Given the description of an element on the screen output the (x, y) to click on. 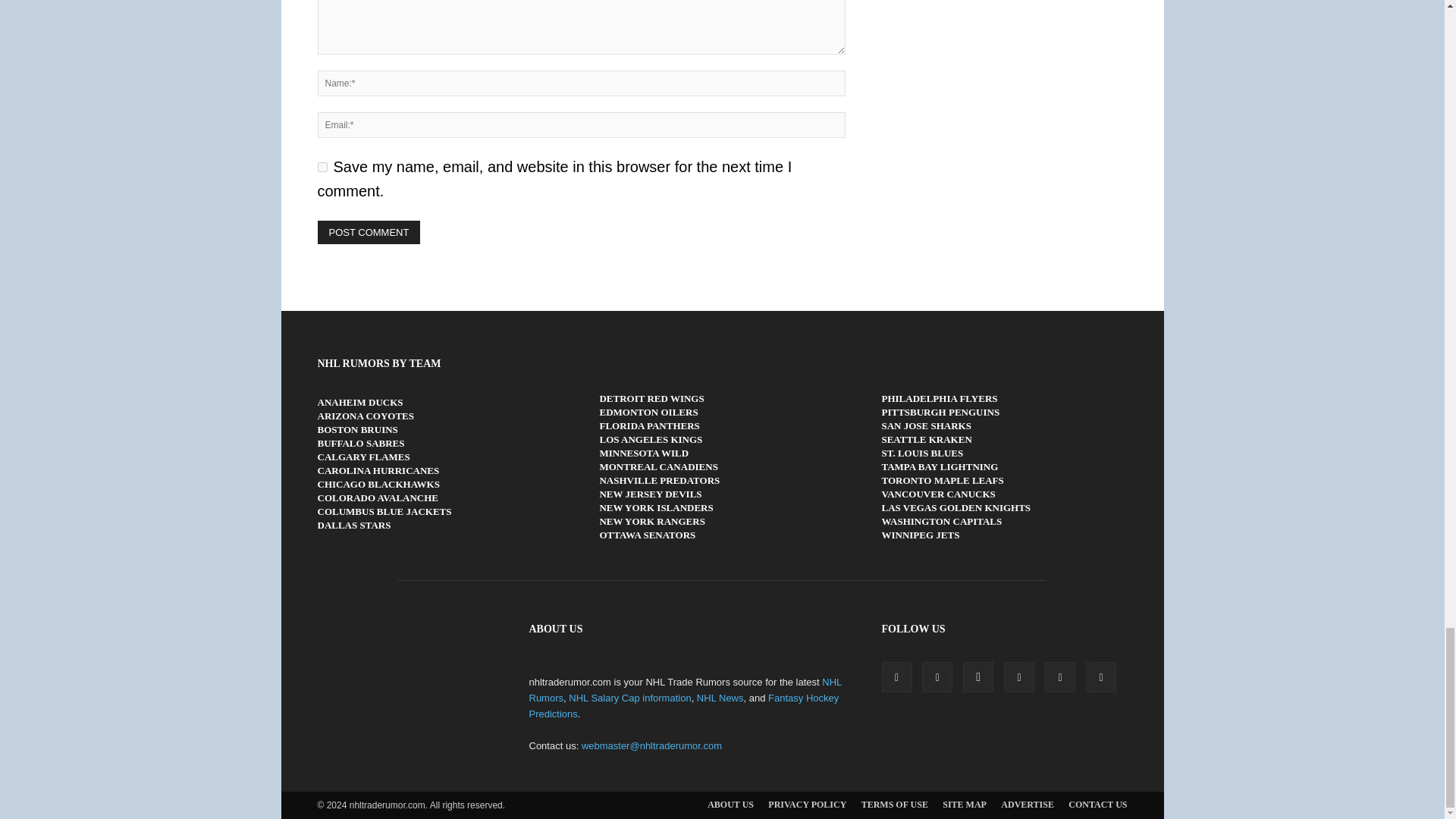
Post Comment (368, 232)
yes (321, 166)
